Given the description of an element on the screen output the (x, y) to click on. 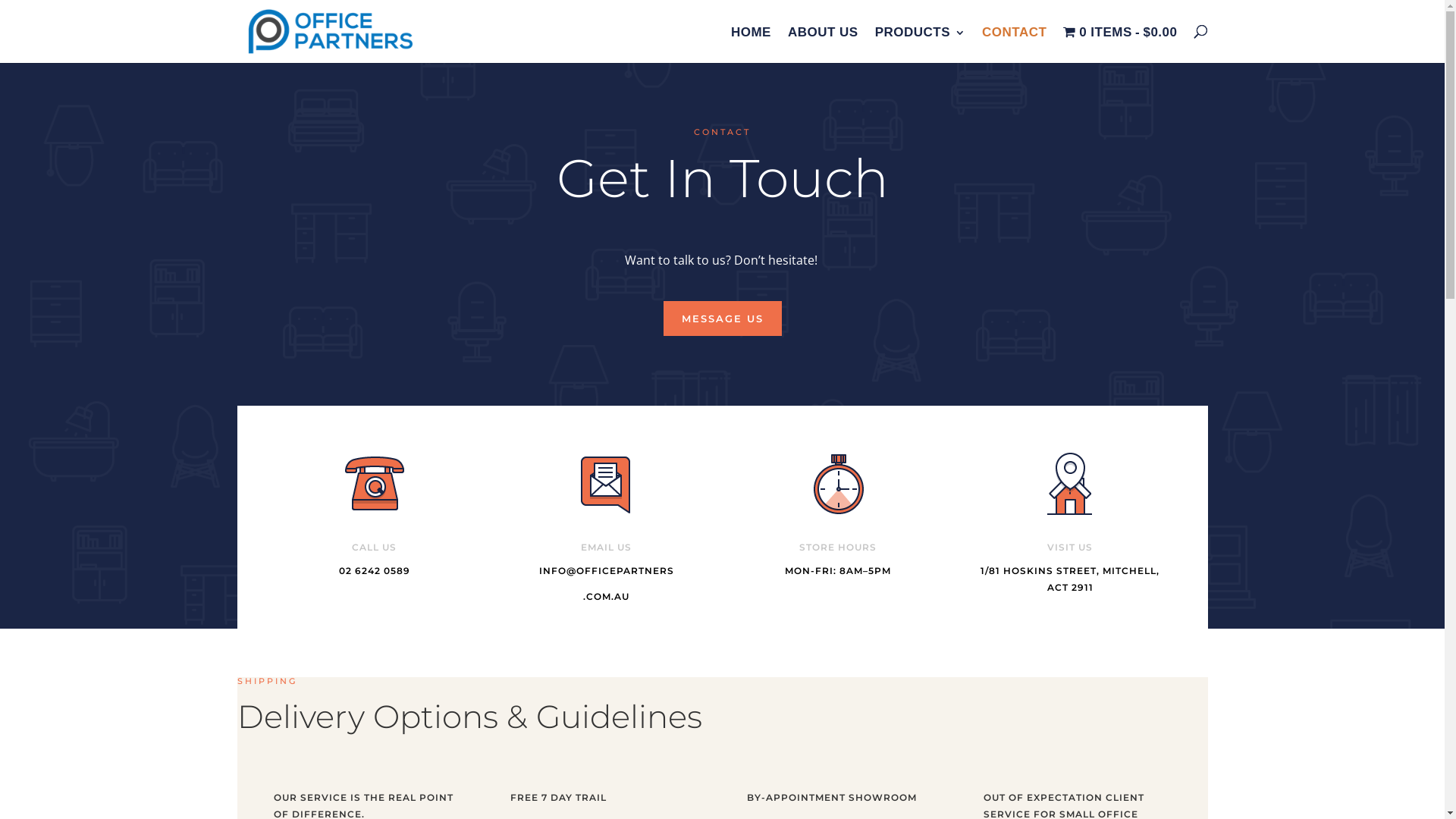
0 ITEMS$0.00 Element type: text (1119, 43)
ABOUT US Element type: text (822, 44)
MESSAGE US Element type: text (721, 318)
HOME Element type: text (751, 44)
PRODUCTS Element type: text (920, 44)
CONTACT Element type: text (1014, 44)
02 6242 0589 Element type: text (374, 570)
INFO@OFFICEPARTNERS Element type: text (605, 570)
.COM.AU Element type: text (606, 596)
